Given the description of an element on the screen output the (x, y) to click on. 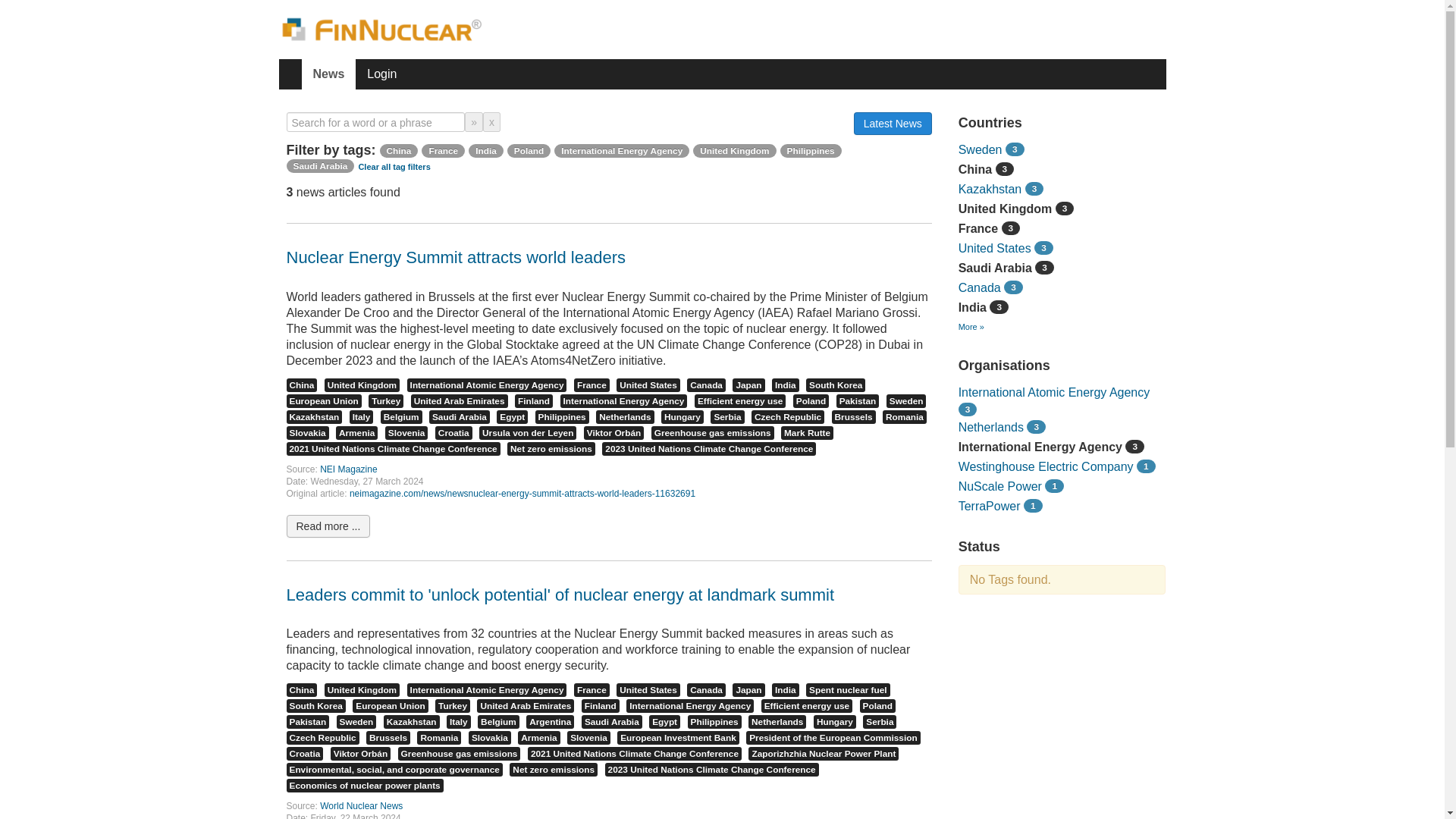
Kazakhstan (314, 417)
France (591, 385)
Content Filter Search (375, 121)
Clear all tag filters (393, 166)
News (328, 73)
Belgium (401, 417)
United Kingdom (734, 150)
International Energy Agency (623, 400)
Nuclear Energy Summit attracts world leaders (456, 257)
Latest News (892, 123)
Saudi Arabia (459, 417)
United Kingdom (361, 385)
Canada (706, 385)
United Arab Emirates (459, 400)
Italy (361, 417)
